Given the description of an element on the screen output the (x, y) to click on. 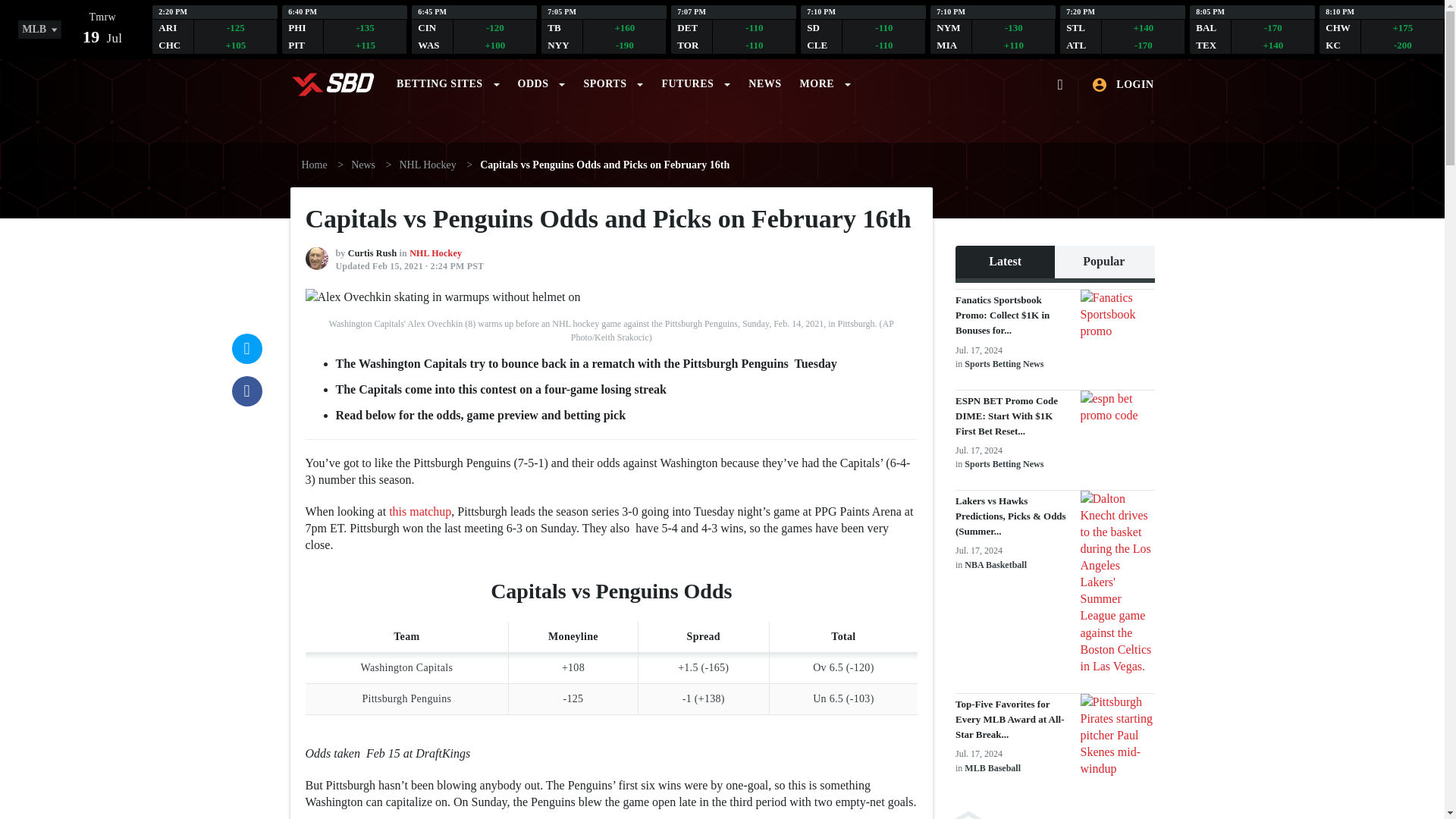
Sports Betting Sites (447, 79)
Sports League (863, 29)
BETTING SITES (41, 30)
